Given the description of an element on the screen output the (x, y) to click on. 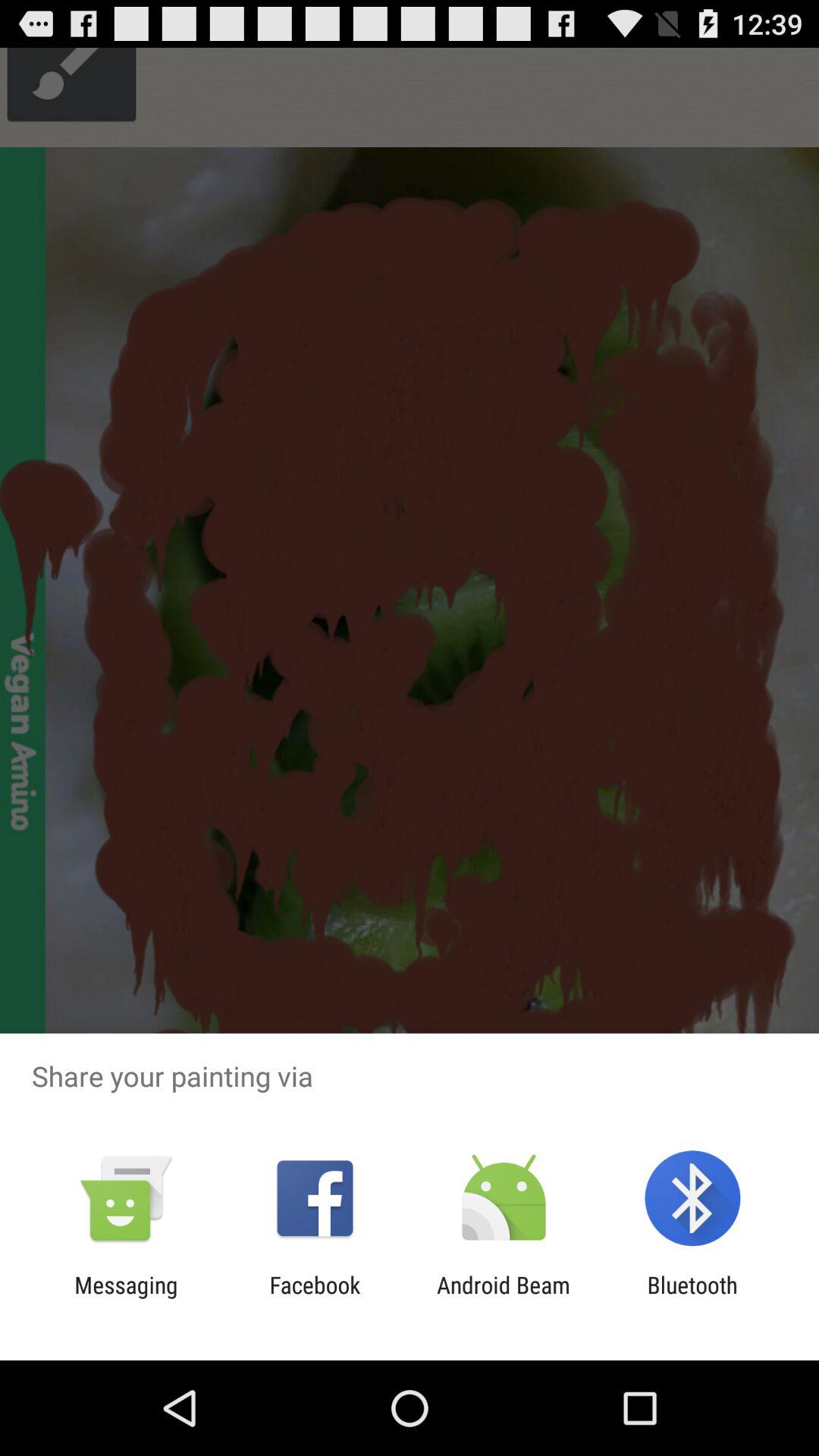
turn on item next to messaging icon (314, 1298)
